Given the description of an element on the screen output the (x, y) to click on. 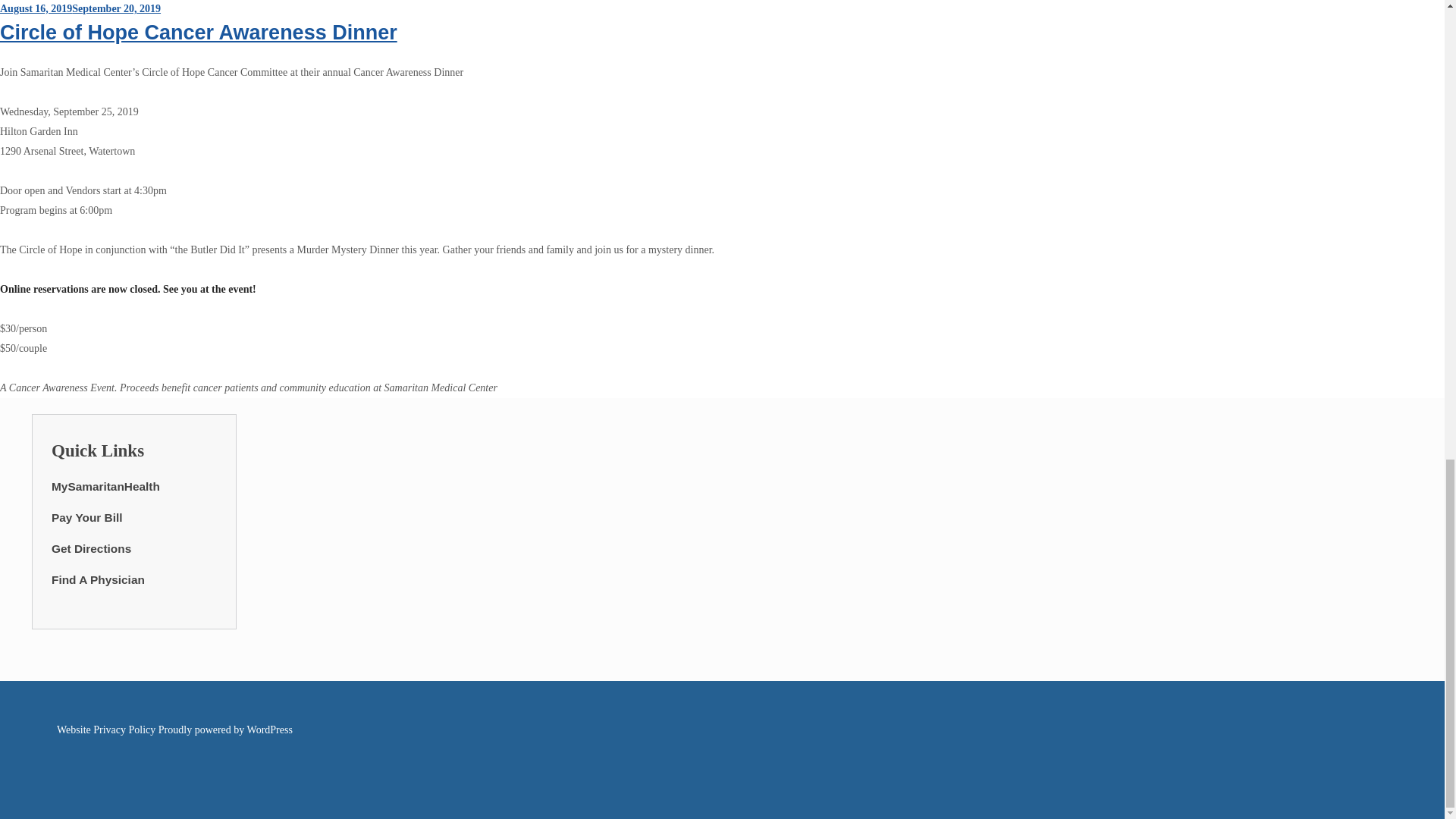
Circle of Hope Cancer Awareness Dinner (198, 32)
Pay Your Bill (86, 517)
August 16, 2019September 20, 2019 (80, 8)
Proudly powered by WordPress (225, 729)
Find A Physician (97, 579)
MySamaritanHealth (105, 486)
Website Privacy Policy (105, 729)
Get Directions (90, 548)
